Given the description of an element on the screen output the (x, y) to click on. 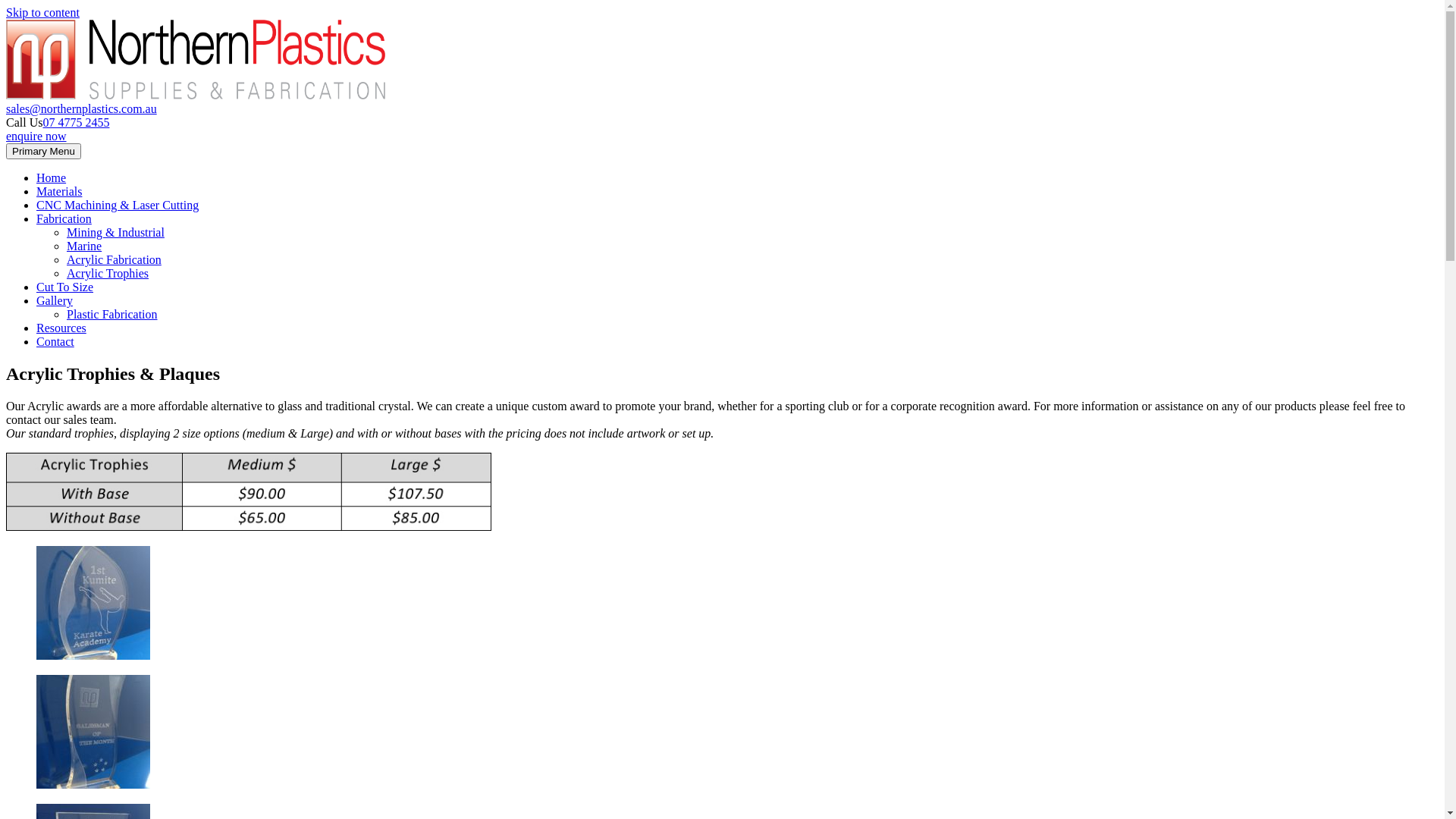
Gallery Element type: text (54, 300)
Cut To Size Element type: text (64, 286)
sales@northernplastics.com.au Element type: text (81, 108)
Mining & Industrial Element type: text (115, 231)
Skip to content Element type: text (42, 12)
Primary Menu Element type: text (43, 151)
Home Element type: text (50, 177)
Contact Element type: text (55, 341)
enquire now Element type: text (36, 135)
Plastic Fabrication Element type: text (111, 313)
Marine Element type: text (83, 245)
Acrylic Fabrication Element type: text (113, 259)
CNC Machining & Laser Cutting Element type: text (117, 204)
Materials Element type: text (58, 191)
Acrylic Trophies Element type: text (107, 272)
07 4775 2455 Element type: text (75, 122)
Fabrication Element type: text (63, 218)
Resources Element type: text (61, 327)
